Given the description of an element on the screen output the (x, y) to click on. 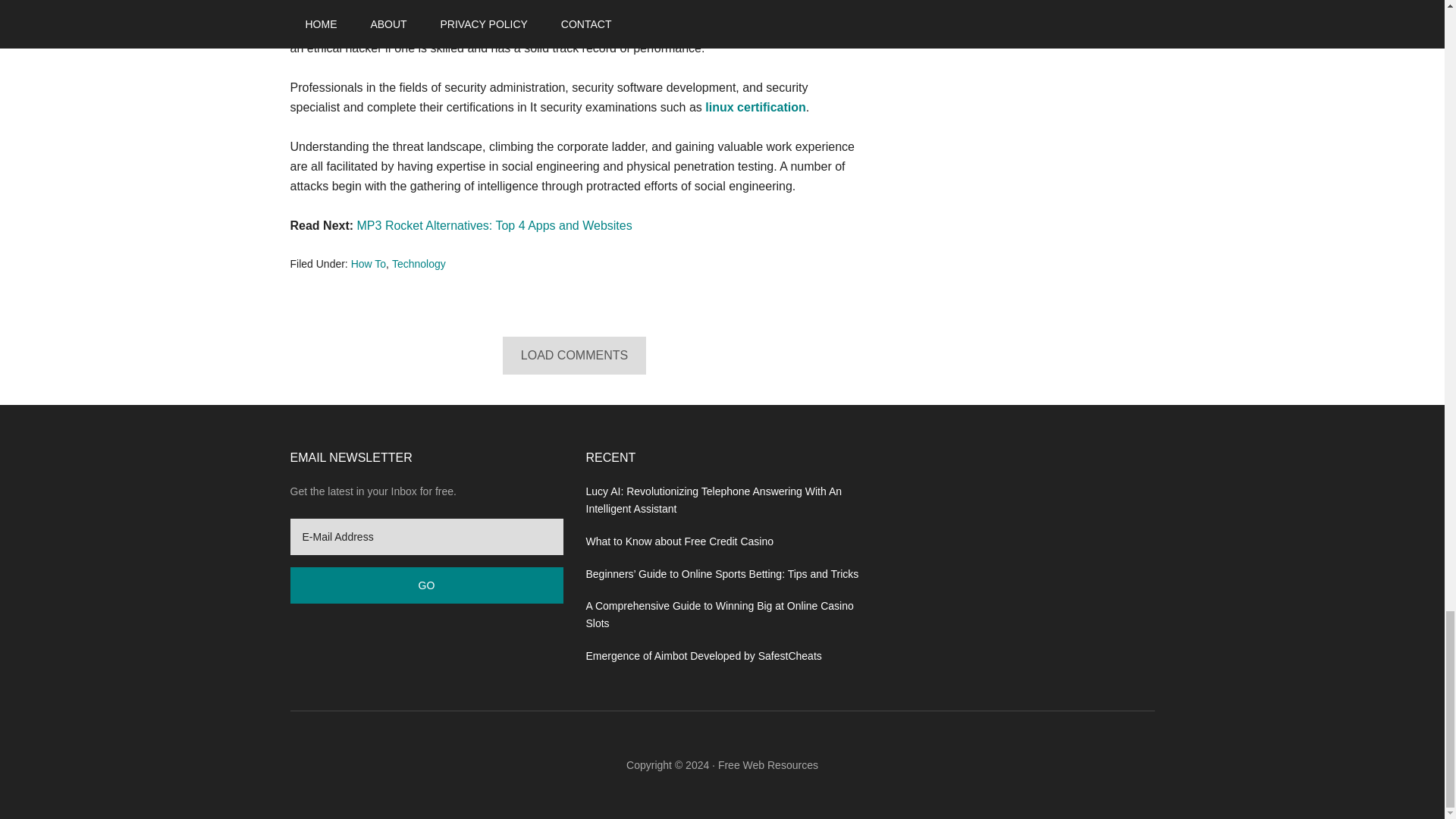
MP3 Rocket Alternatives: Top 4 Apps and Websites (493, 225)
LOAD COMMENTS (574, 355)
Go (425, 585)
linux certification (754, 106)
How To (367, 263)
Technology (418, 263)
